Given the description of an element on the screen output the (x, y) to click on. 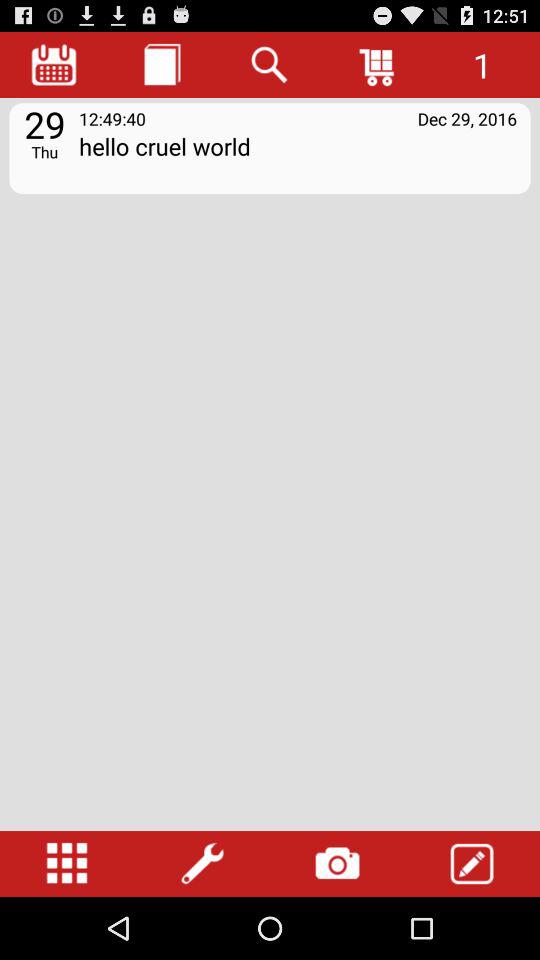
press the item to the right of the 29 (298, 159)
